Given the description of an element on the screen output the (x, y) to click on. 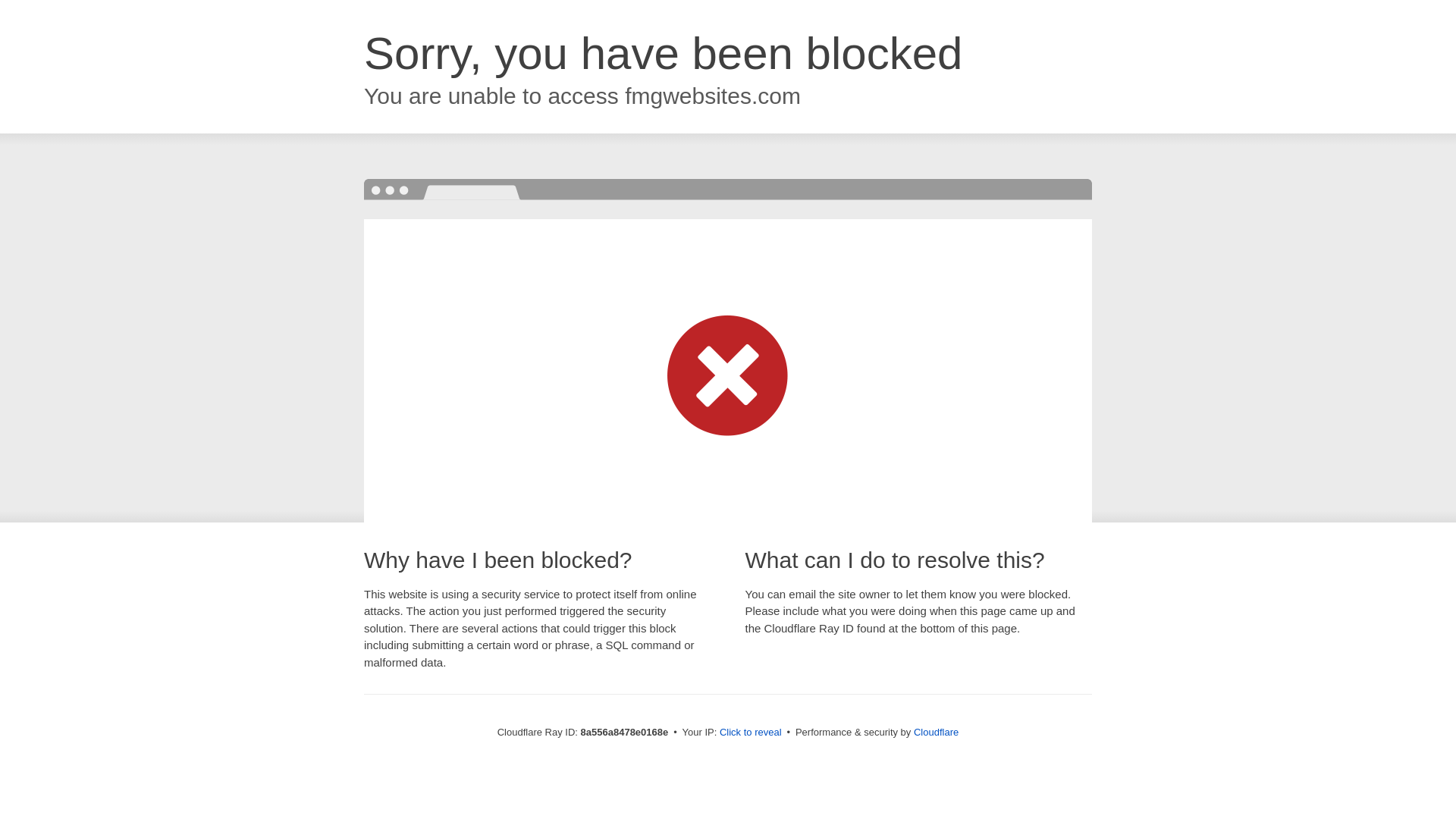
Cloudflare (936, 731)
Click to reveal (750, 732)
